Given the description of an element on the screen output the (x, y) to click on. 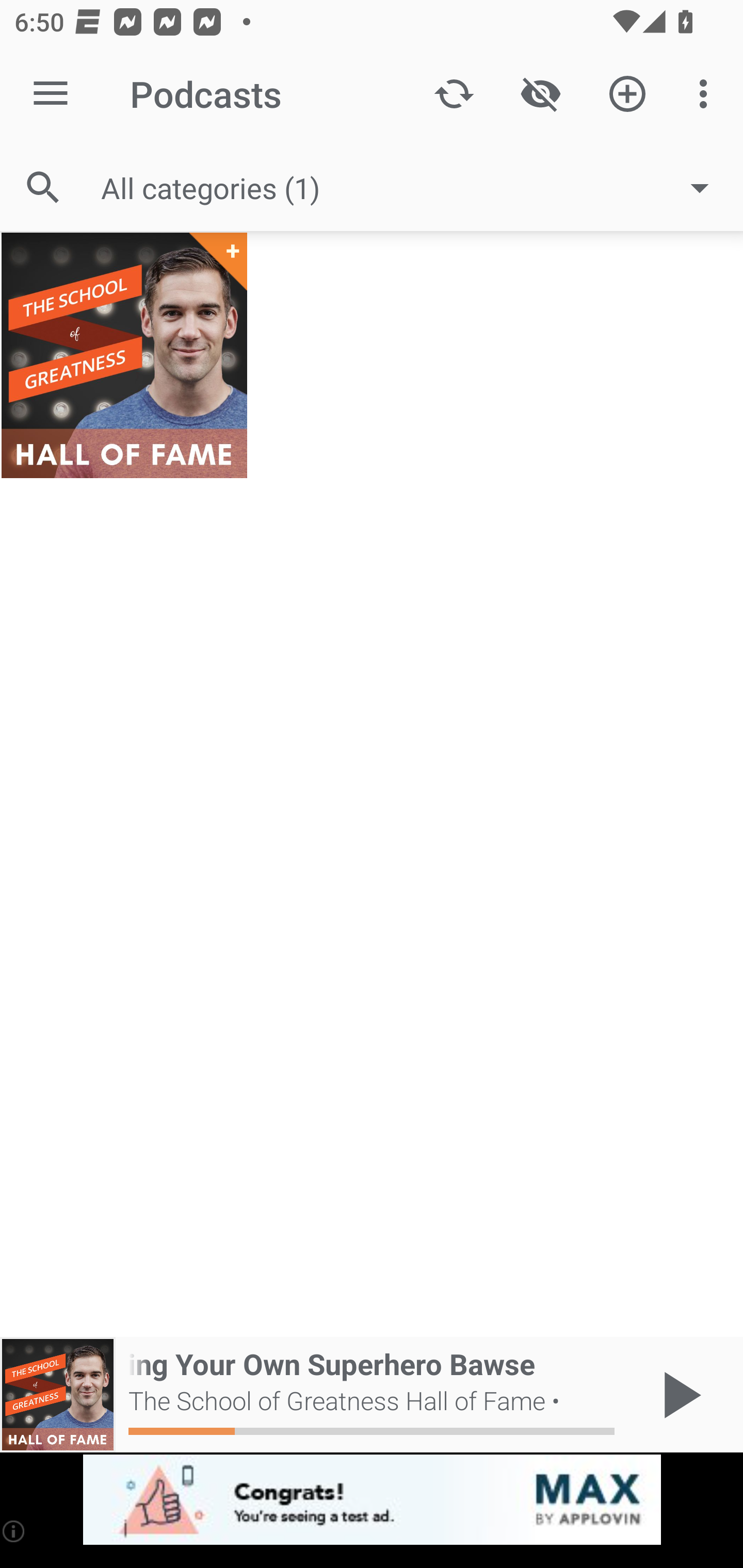
Open navigation sidebar (50, 93)
Update (453, 93)
Show / Hide played content (540, 93)
Add new Podcast (626, 93)
More options (706, 93)
Search (43, 187)
All categories (1) (414, 188)
The School of Greatness Hall of Fame + (124, 355)
Play / Pause (677, 1394)
app-monetization (371, 1500)
(i) (14, 1531)
